Given the description of an element on the screen output the (x, y) to click on. 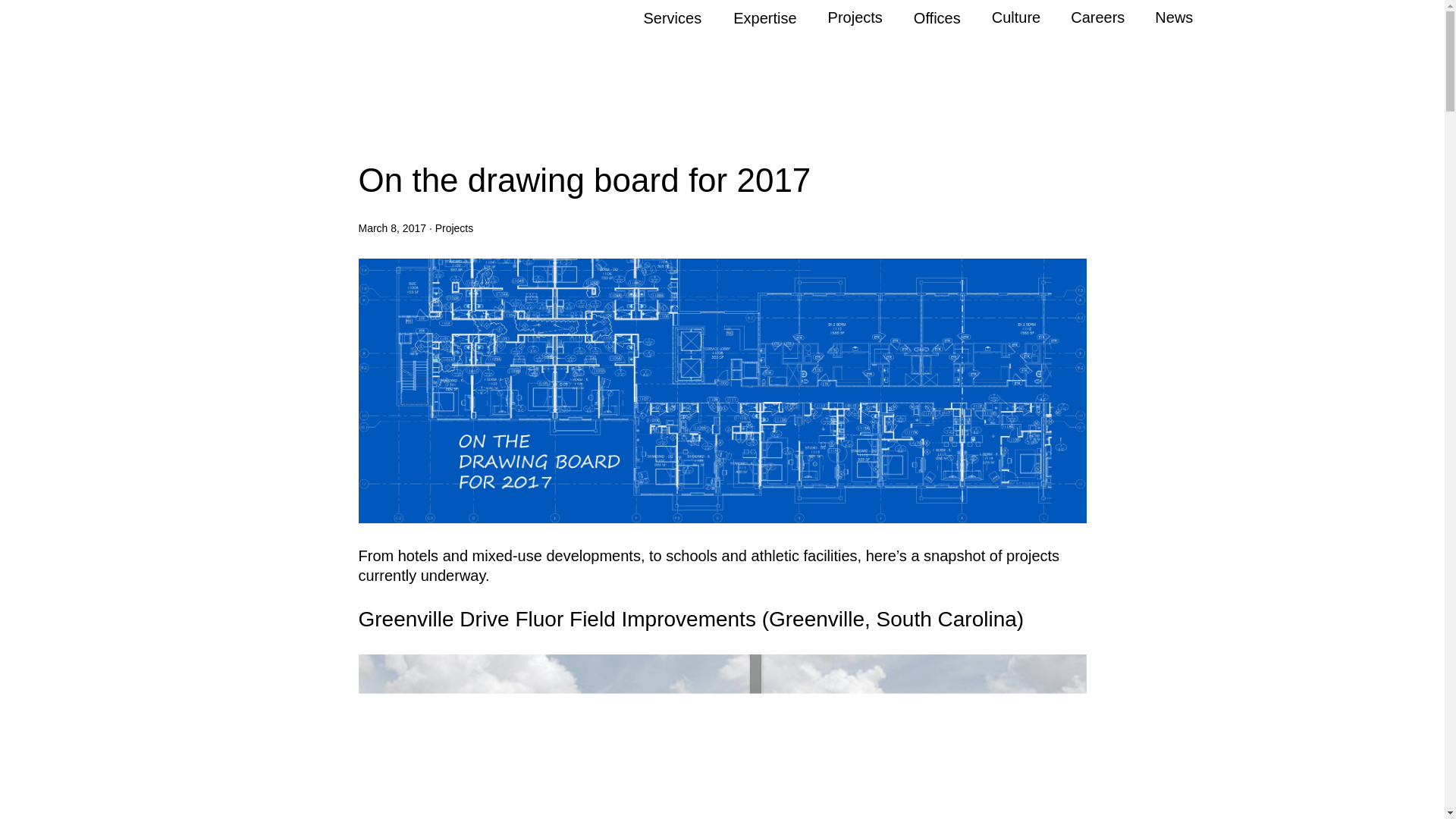
Skip to Content (51, 9)
Expertise (764, 17)
GMC Network (223, 14)
on (5, 4)
Services (672, 17)
on (5, 4)
